Given the description of an element on the screen output the (x, y) to click on. 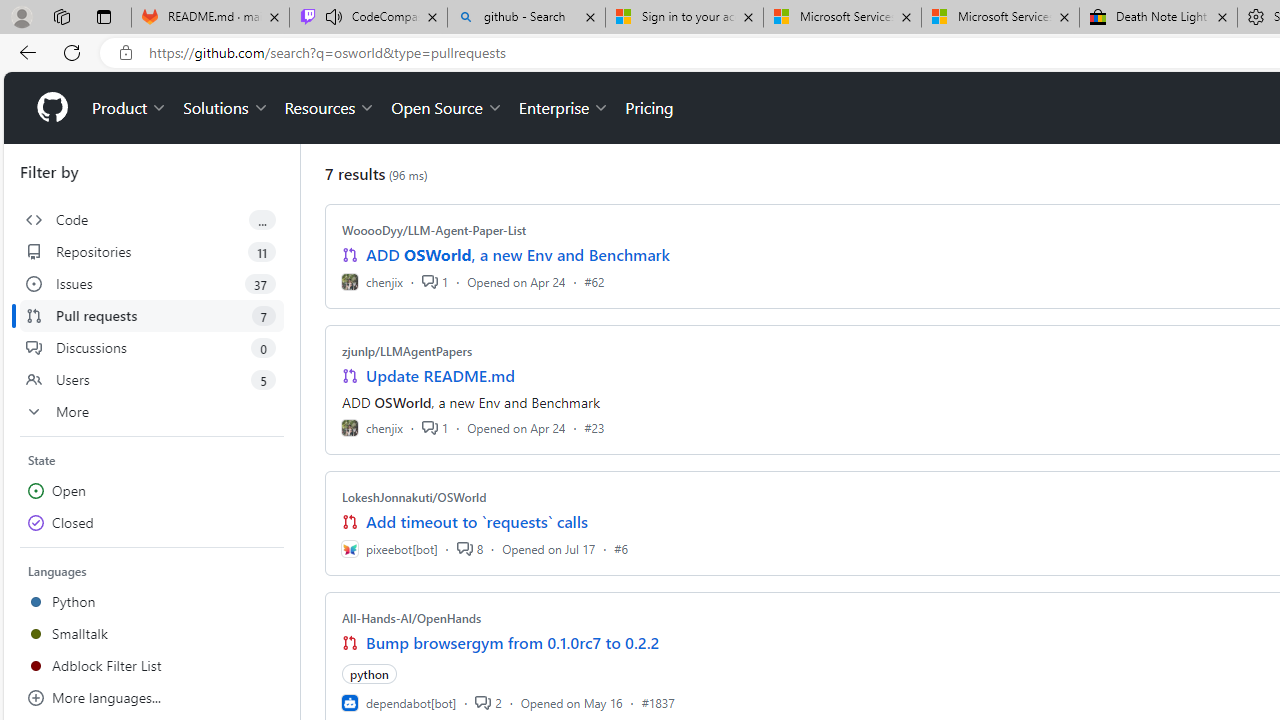
#62 (594, 281)
Add timeout to `requests` calls (476, 521)
Homepage (51, 107)
Solutions (225, 107)
More (152, 411)
github - Search (526, 17)
Solutions (225, 107)
#1837 (657, 702)
More languages... (152, 697)
pixeebot[bot] (389, 548)
All-Hands-AI/OpenHands (411, 618)
Pricing (649, 107)
